Given the description of an element on the screen output the (x, y) to click on. 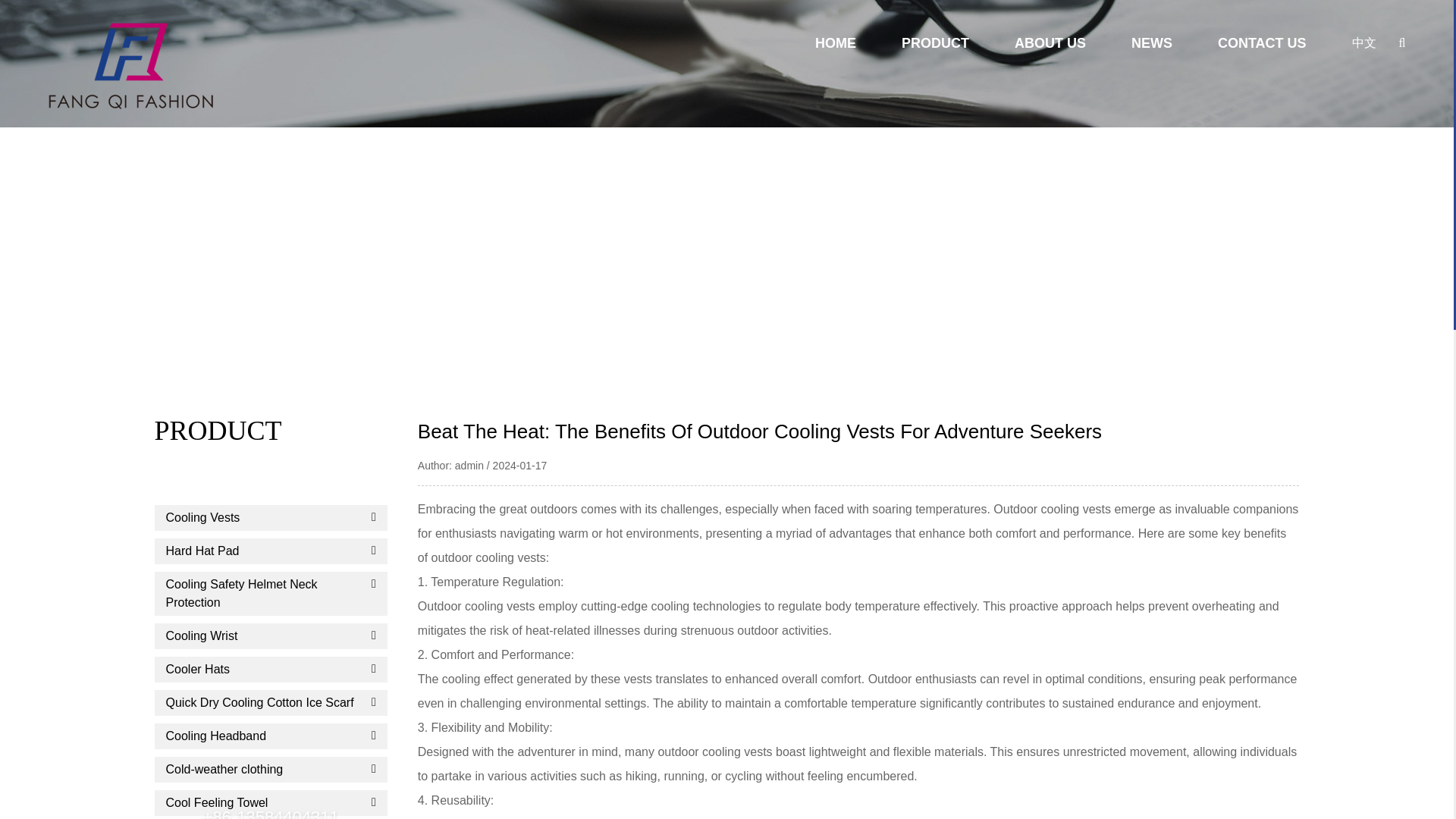
NEWS (1151, 43)
ABOUT US (1050, 43)
PRODUCT (935, 43)
CONTACT US (1261, 43)
HOME (835, 43)
